Given the description of an element on the screen output the (x, y) to click on. 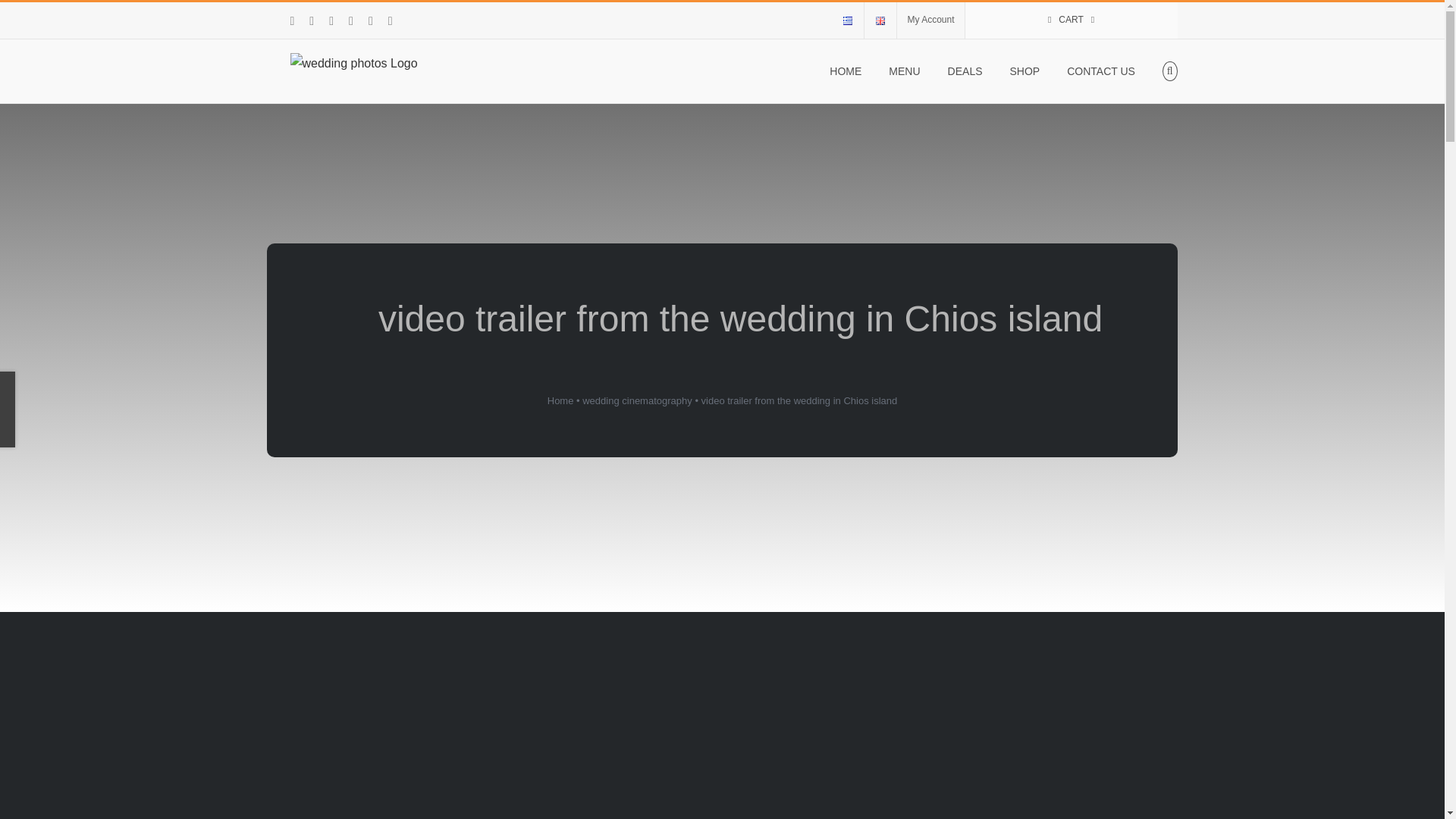
My Account (929, 20)
CONTACT US (1101, 71)
Log In (1064, 182)
CART (1069, 20)
